Given the description of an element on the screen output the (x, y) to click on. 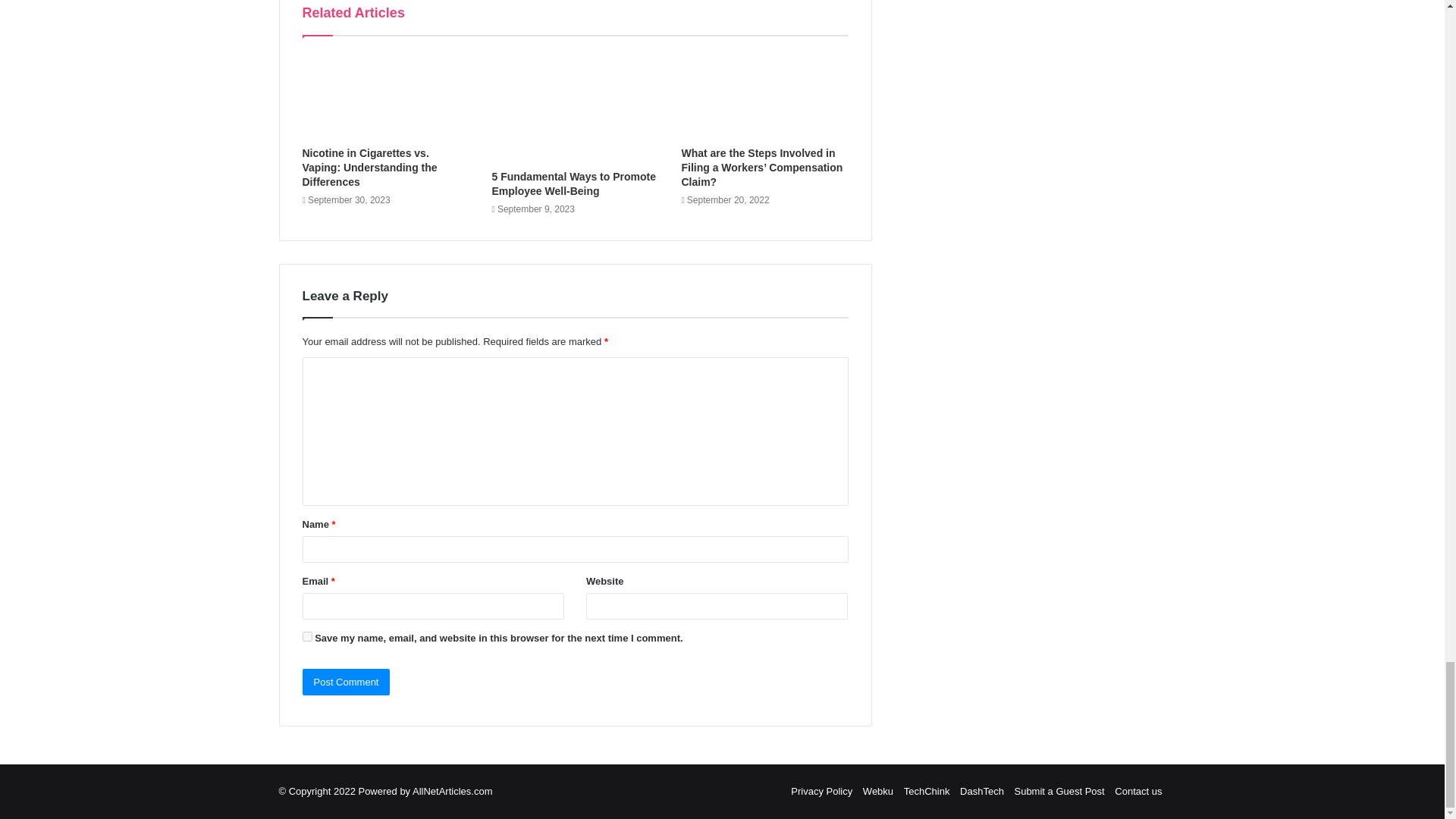
yes (306, 636)
Post Comment (345, 682)
